Given the description of an element on the screen output the (x, y) to click on. 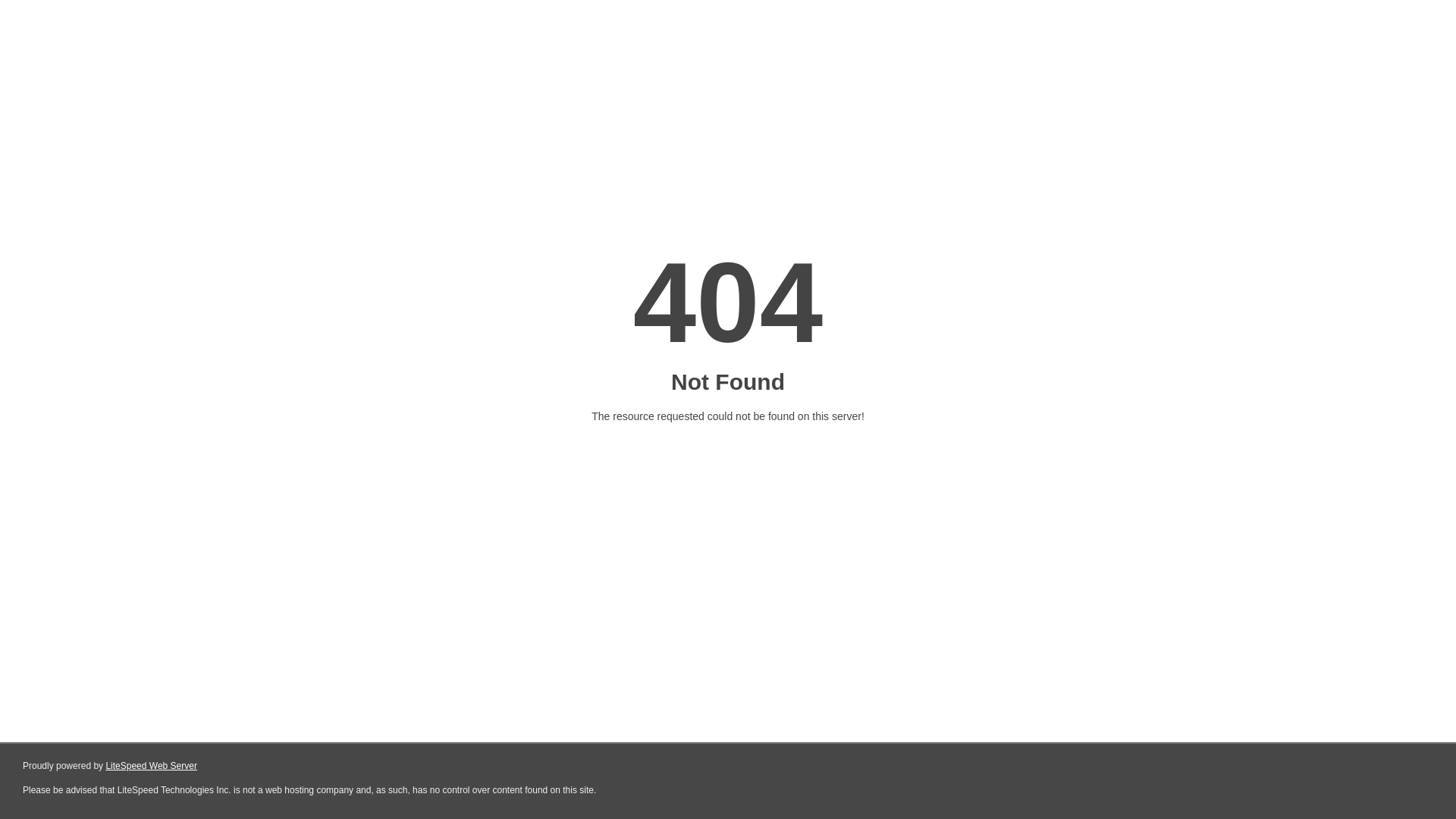
LiteSpeed Web Server Element type: text (151, 765)
